Given the description of an element on the screen output the (x, y) to click on. 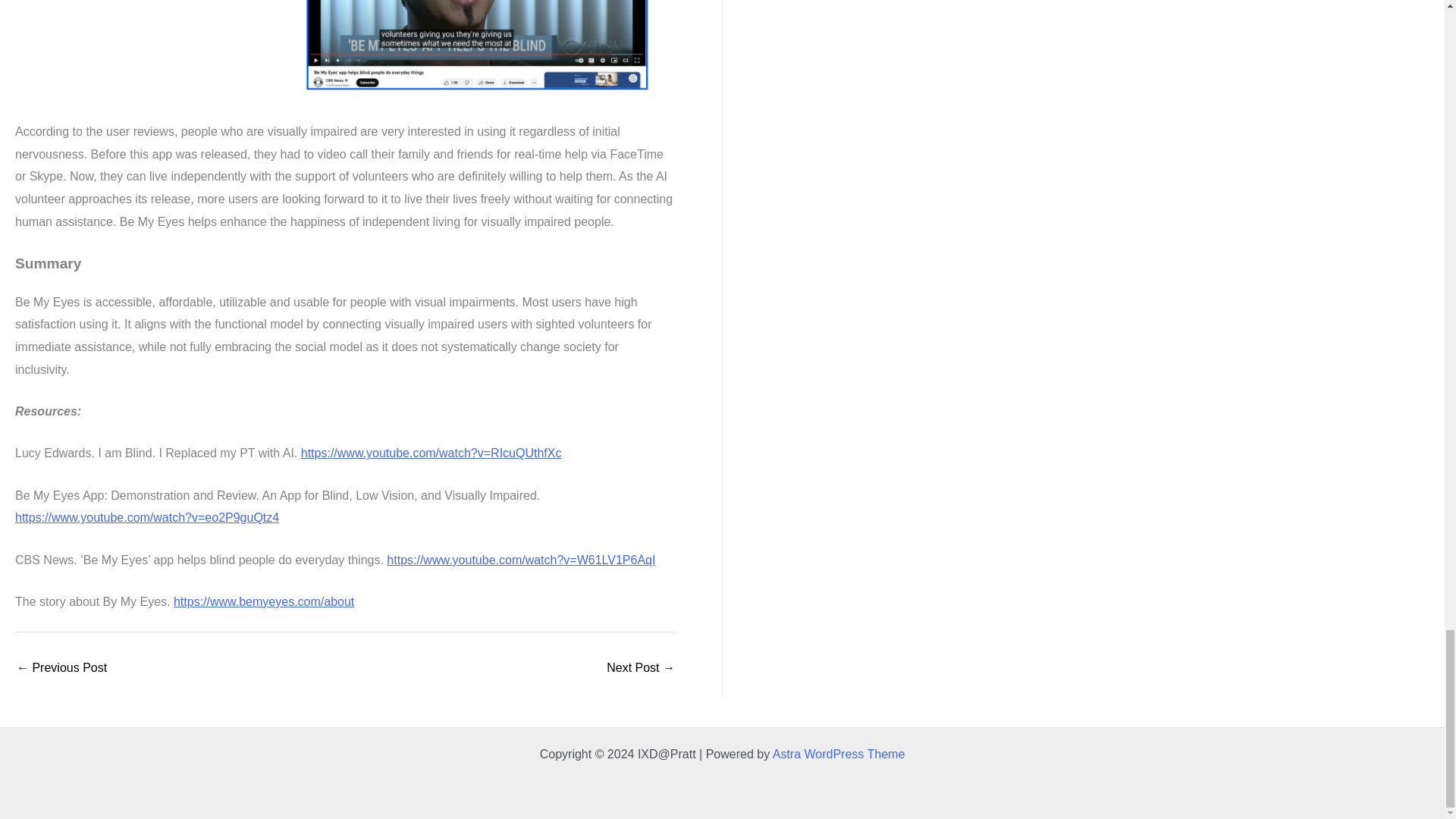
Assistive Technology: Dyslexia-Friendly Fonts (61, 667)
Assistive Technology: Precision Finding on Apple's iPhone 15 (641, 667)
Astra WordPress Theme (839, 753)
